Given the description of an element on the screen output the (x, y) to click on. 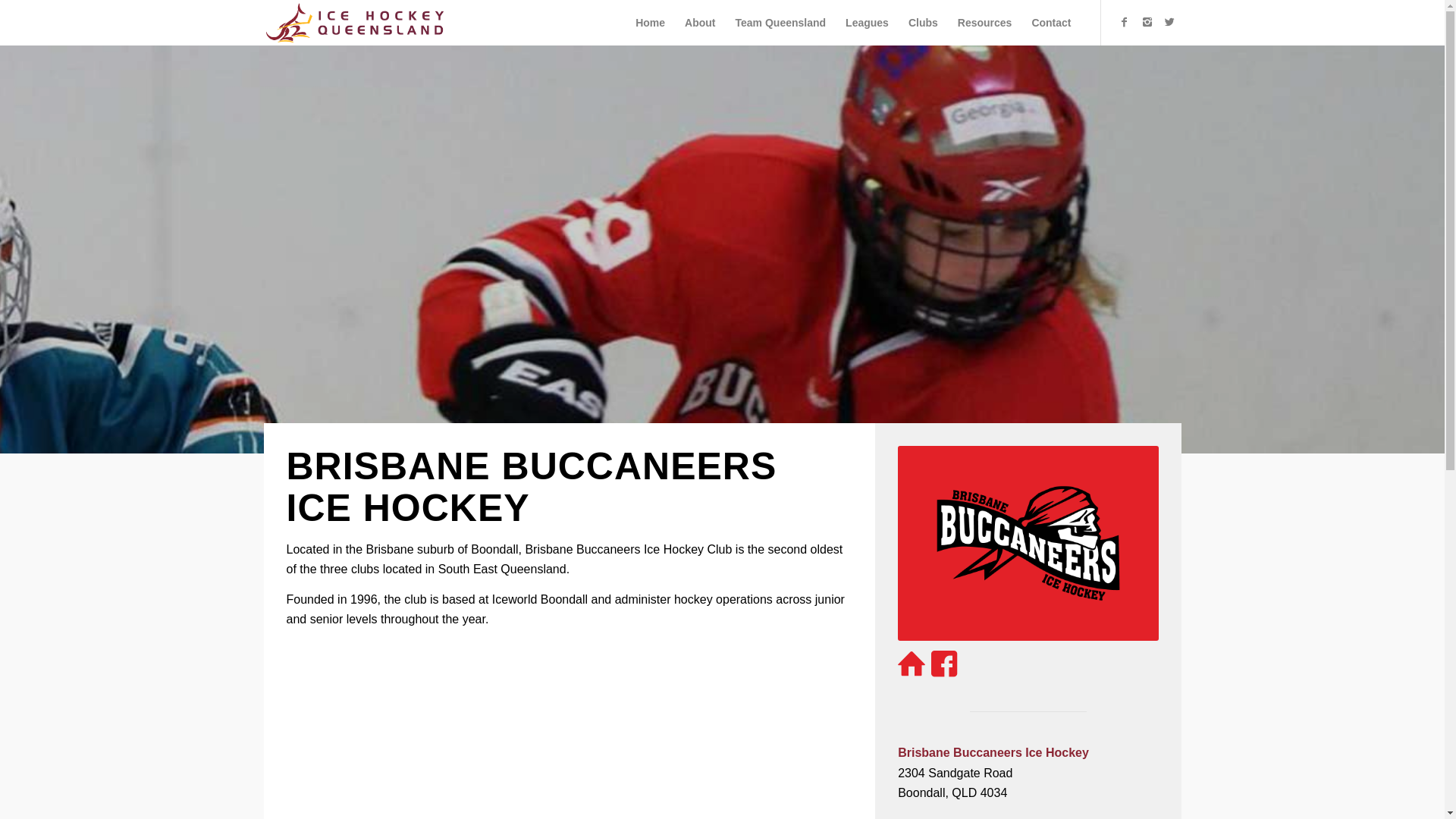
About Element type: text (699, 22)
Home Element type: text (649, 22)
brisbane-buccaneers Element type: hover (1027, 542)
Instagram Element type: hover (1146, 21)
Twitter Element type: hover (1169, 21)
Facebook Element type: hover (1124, 21)
Team Queensland Element type: text (780, 22)
Leagues Element type: text (866, 22)
Resources Element type: text (984, 22)
Contact Element type: text (1050, 22)
Clubs Element type: text (922, 22)
